Given the description of an element on the screen output the (x, y) to click on. 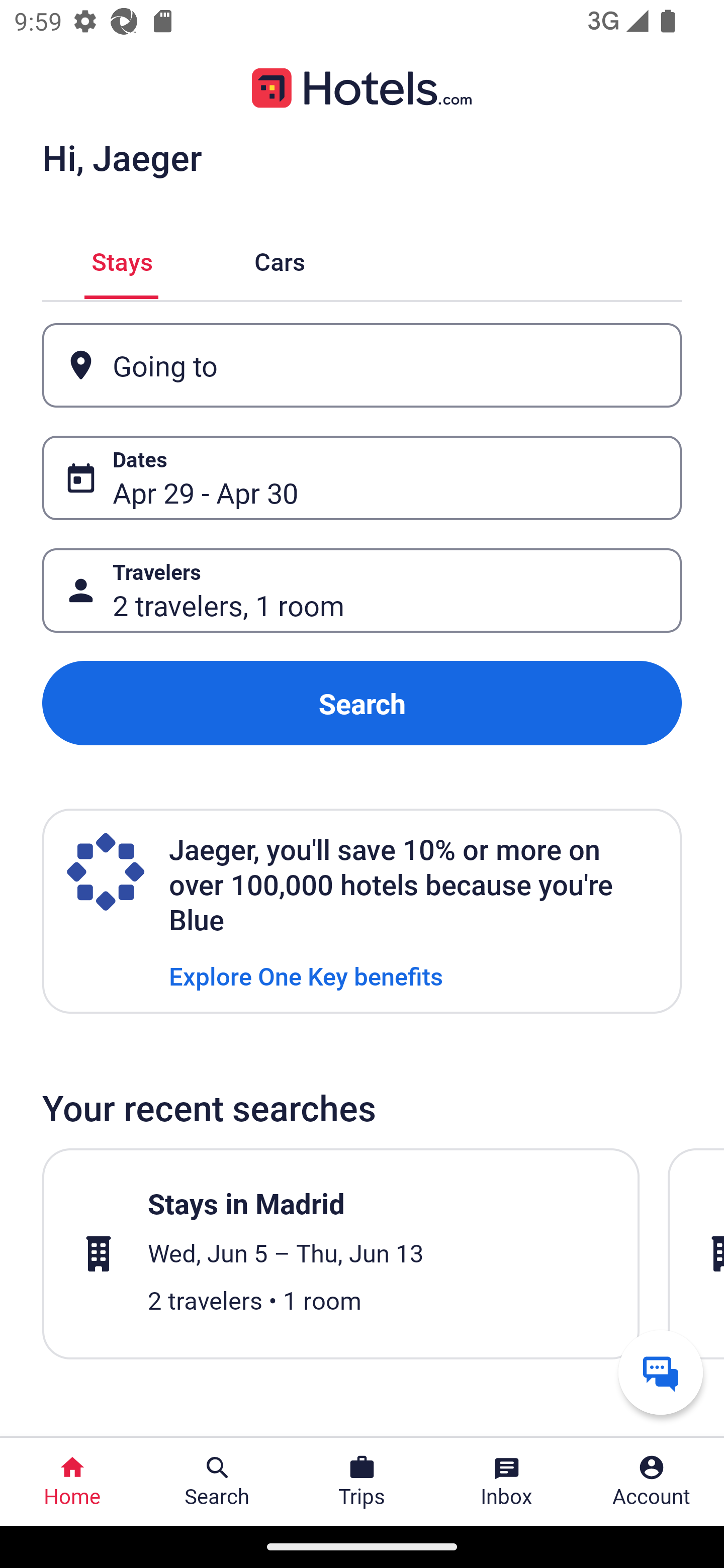
Hi, Jaeger (121, 156)
Cars (279, 259)
Going to Button (361, 365)
Dates Button Apr 29 - Apr 30 (361, 477)
Travelers Button 2 travelers, 1 room (361, 590)
Search (361, 702)
Get help from a virtual agent (660, 1371)
Search Search Button (216, 1481)
Trips Trips Button (361, 1481)
Inbox Inbox Button (506, 1481)
Account Profile. Button (651, 1481)
